Given the description of an element on the screen output the (x, y) to click on. 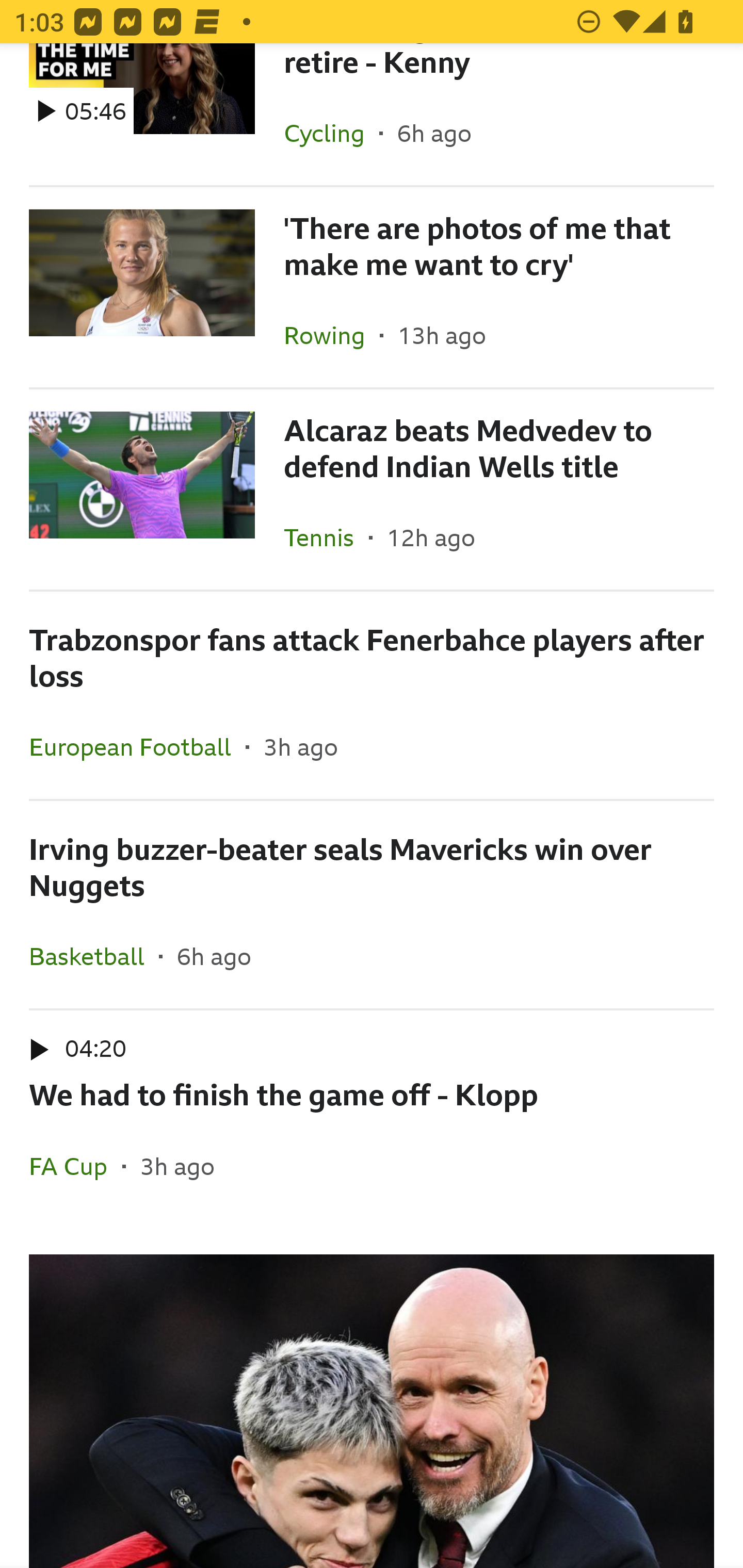
Cycling In the section Cycling (330, 133)
Rowing In the section Rowing (331, 335)
Tennis In the section Tennis (326, 537)
European Football In the section European Football (136, 746)
Basketball In the section Basketball (93, 956)
FA Cup In the section FA Cup (75, 1166)
